Given the description of an element on the screen output the (x, y) to click on. 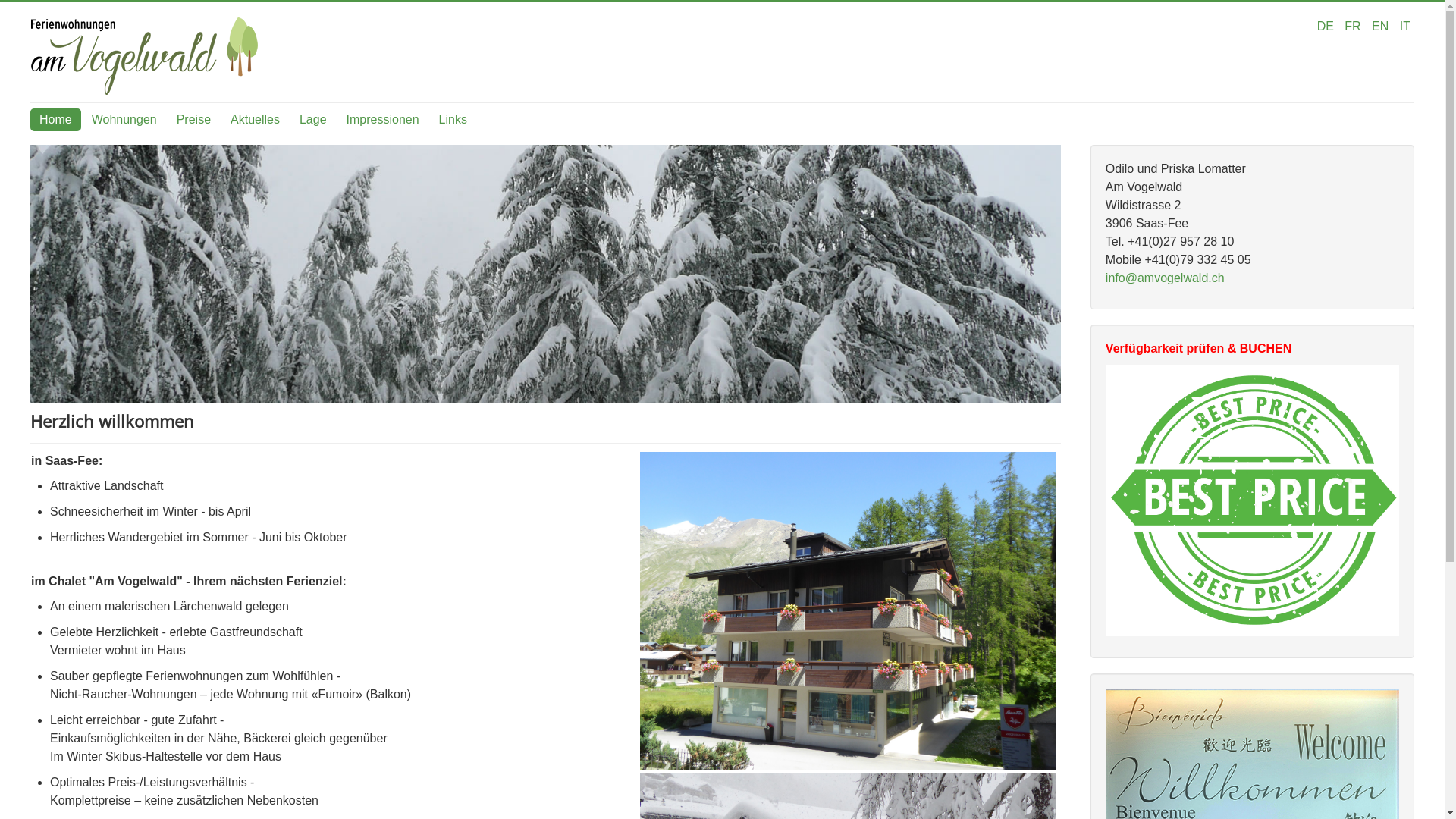
EN Element type: text (1381, 25)
Lage Element type: text (312, 119)
IT Element type: text (1404, 25)
Preise Element type: text (193, 119)
info@amvogelwald.ch Element type: text (1164, 277)
Wohnungen Element type: text (124, 119)
Aktuelles Element type: text (254, 119)
Impressionen Element type: text (382, 119)
DE Element type: text (1327, 25)
FR Element type: text (1354, 25)
Links Element type: text (452, 119)
Home Element type: text (55, 119)
